Given the description of an element on the screen output the (x, y) to click on. 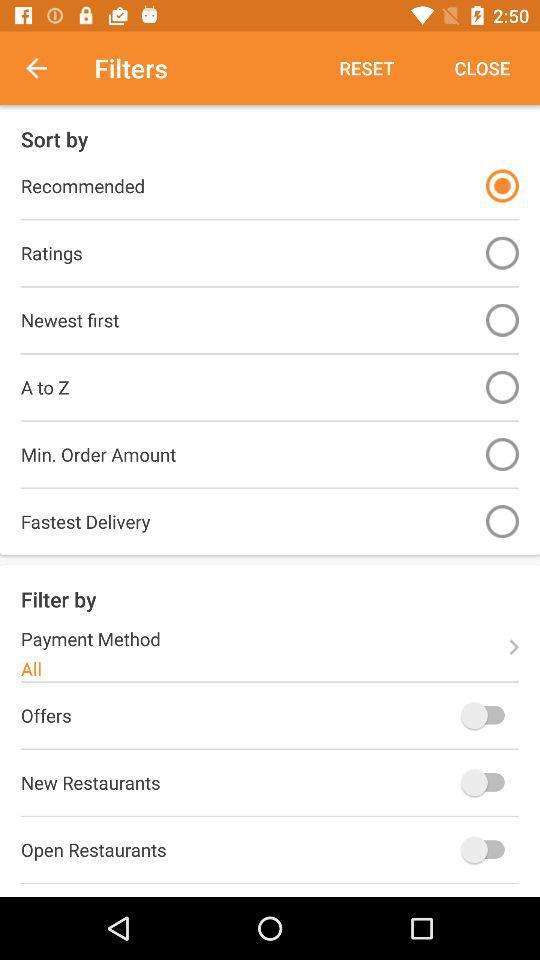
press the icon next to ratings icon (502, 252)
